Given the description of an element on the screen output the (x, y) to click on. 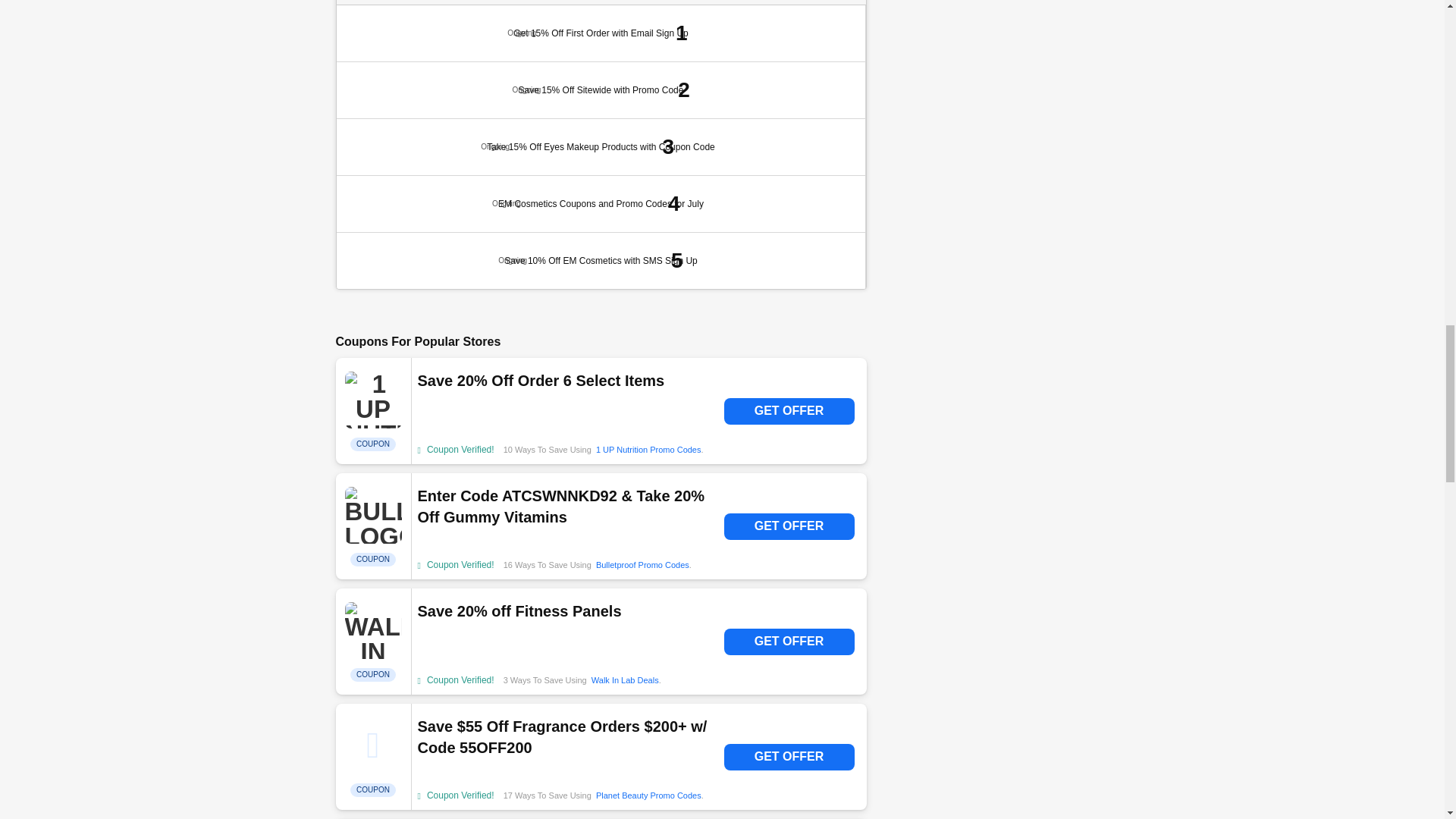
1 UP Nutrition Promo Codes (648, 449)
